Given the description of an element on the screen output the (x, y) to click on. 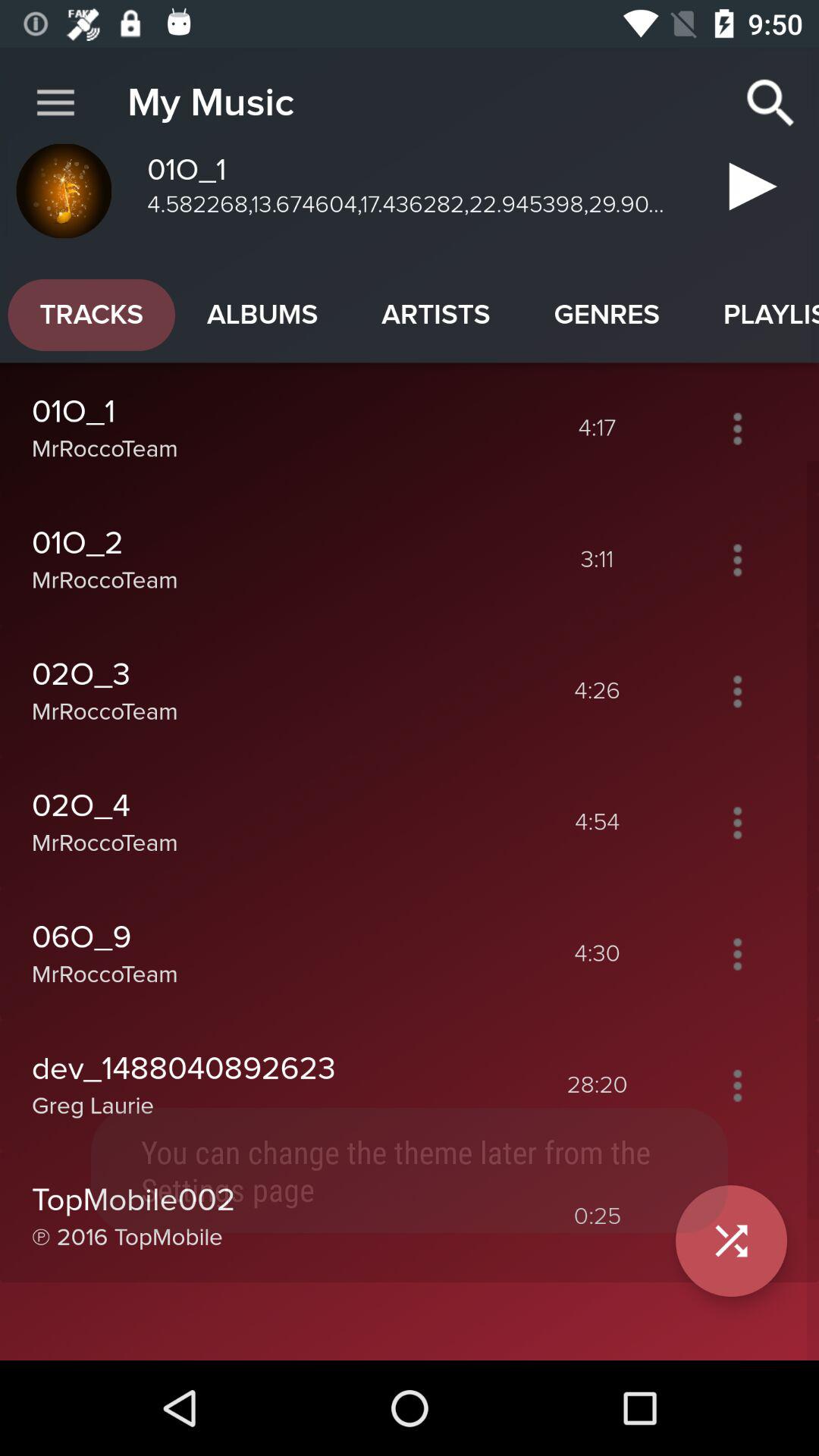
play (747, 192)
